Given the description of an element on the screen output the (x, y) to click on. 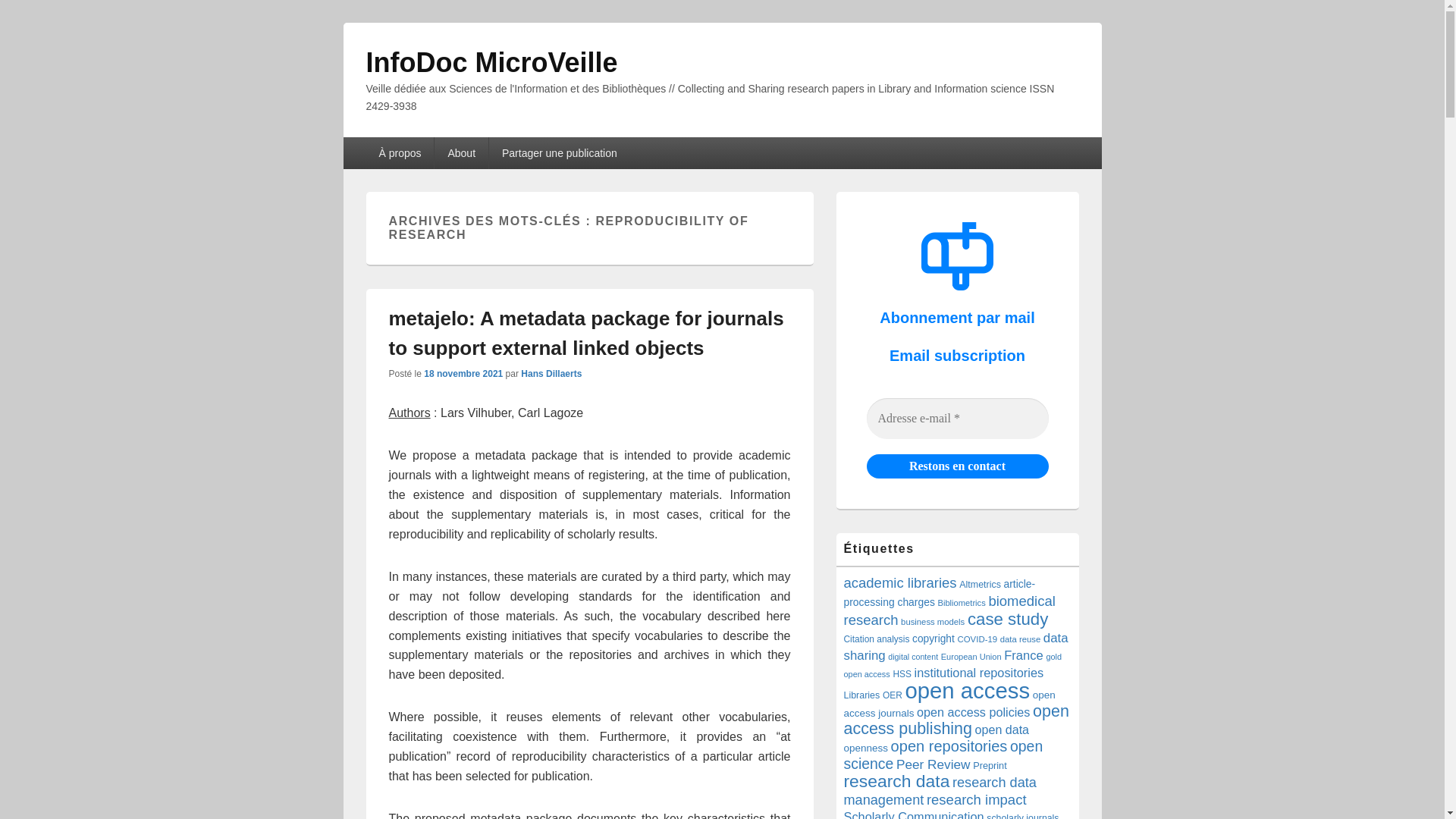
About (460, 152)
Restons en contact (957, 466)
Hans Dillaerts (550, 373)
Partager une publication (559, 152)
10 h 38 min (462, 373)
Voir tous les articles par Hans Dillaerts (550, 373)
InfoDoc MicroVeille (491, 61)
18 novembre 2021 (462, 373)
